Given the description of an element on the screen output the (x, y) to click on. 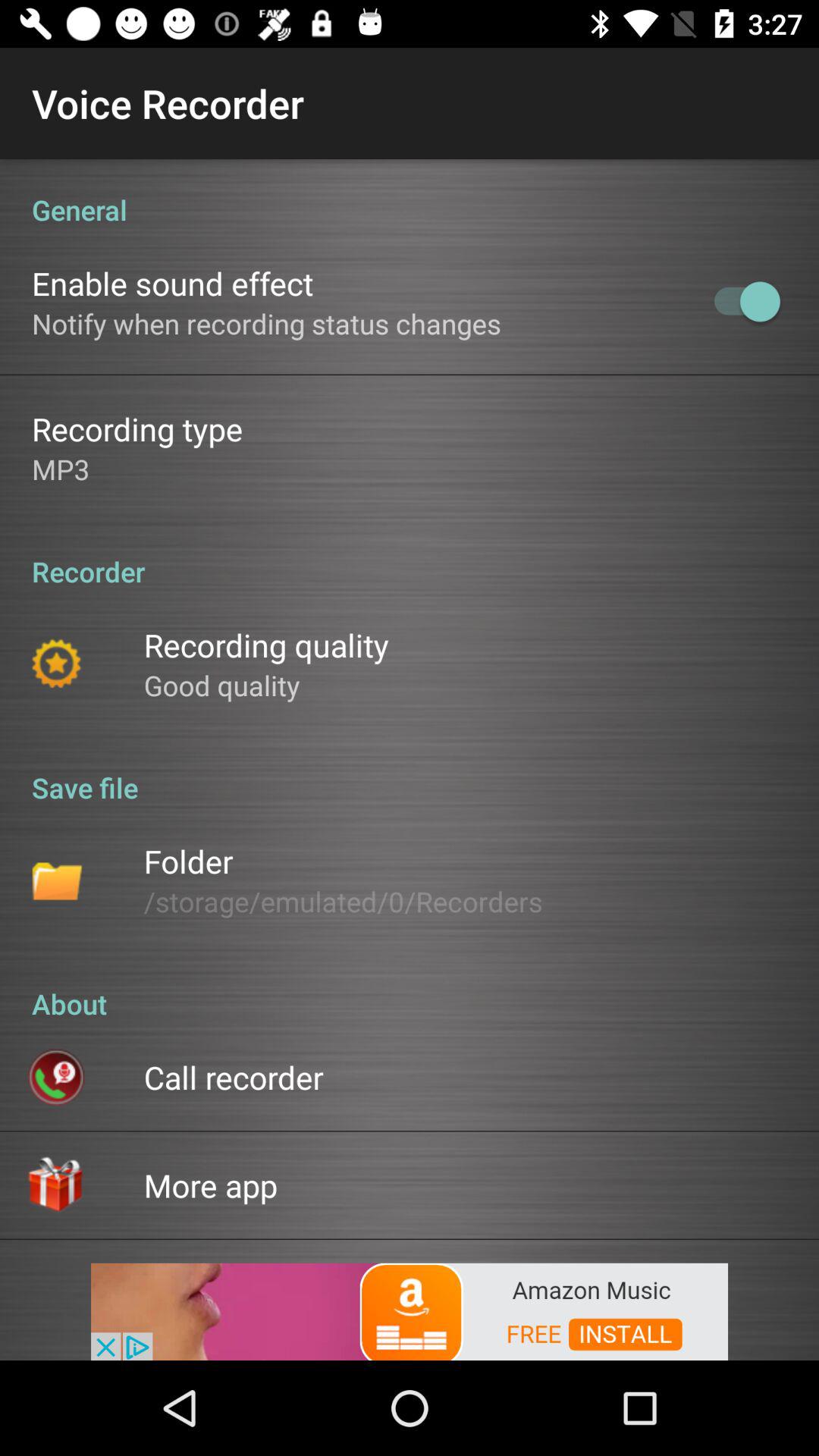
open advertisement (409, 1310)
